Given the description of an element on the screen output the (x, y) to click on. 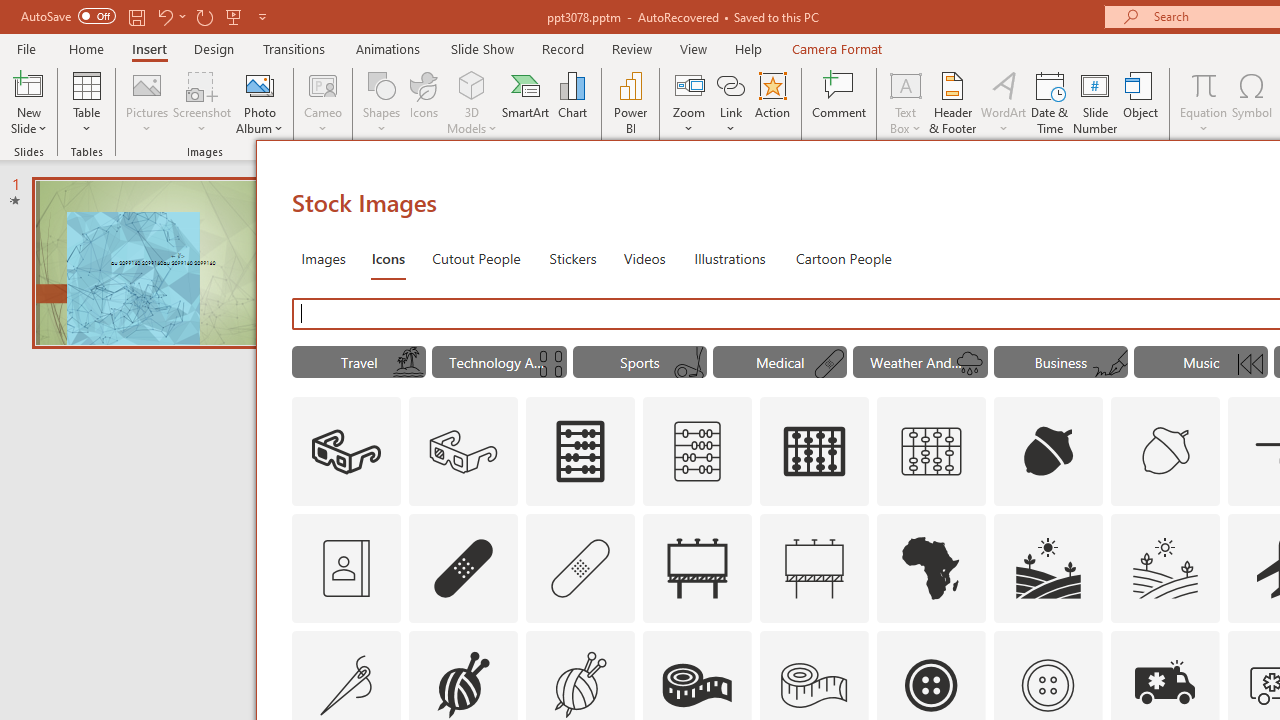
Date & Time... (1050, 102)
Cartoon People (843, 258)
AutomationID: Icons_Abacus1_M (931, 452)
"Sports" Icons. (639, 362)
Chart... (572, 102)
SmartArt... (525, 102)
AutomationID: Icons_Agriculture (1048, 568)
AutomationID: Icons_Acorn_M (1165, 452)
Illustrations (729, 258)
Comment (839, 102)
